Given the description of an element on the screen output the (x, y) to click on. 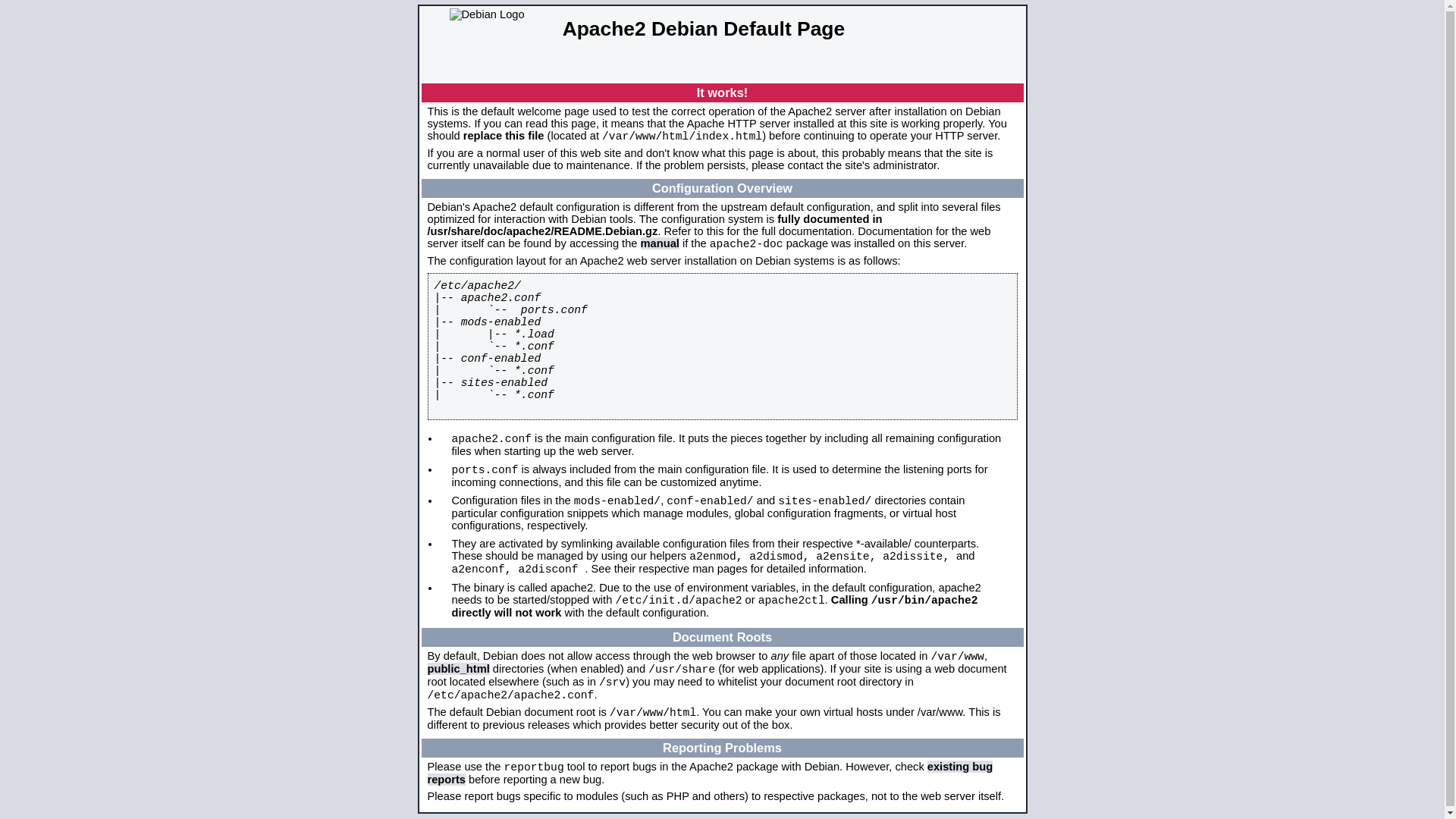
public_html Element type: text (458, 668)
existing bug reports Element type: text (710, 772)
manual Element type: text (659, 243)
